Given the description of an element on the screen output the (x, y) to click on. 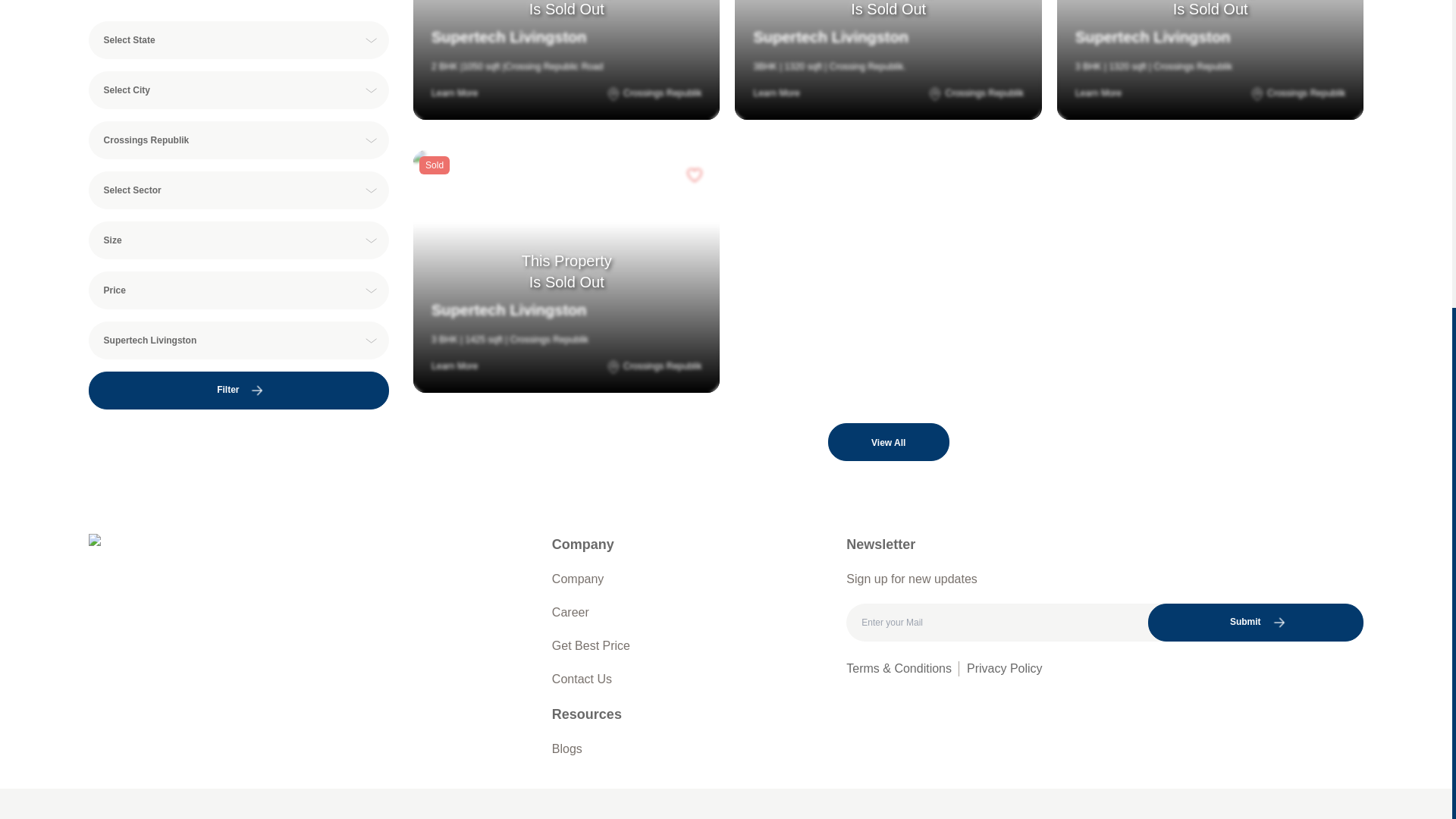
Filter (238, 237)
Company (577, 579)
Submit (1255, 622)
View All (888, 442)
Privacy Policy (1004, 667)
Get Best Price (590, 646)
Blogs (566, 749)
Career (570, 612)
Contact Us (581, 679)
